Given the description of an element on the screen output the (x, y) to click on. 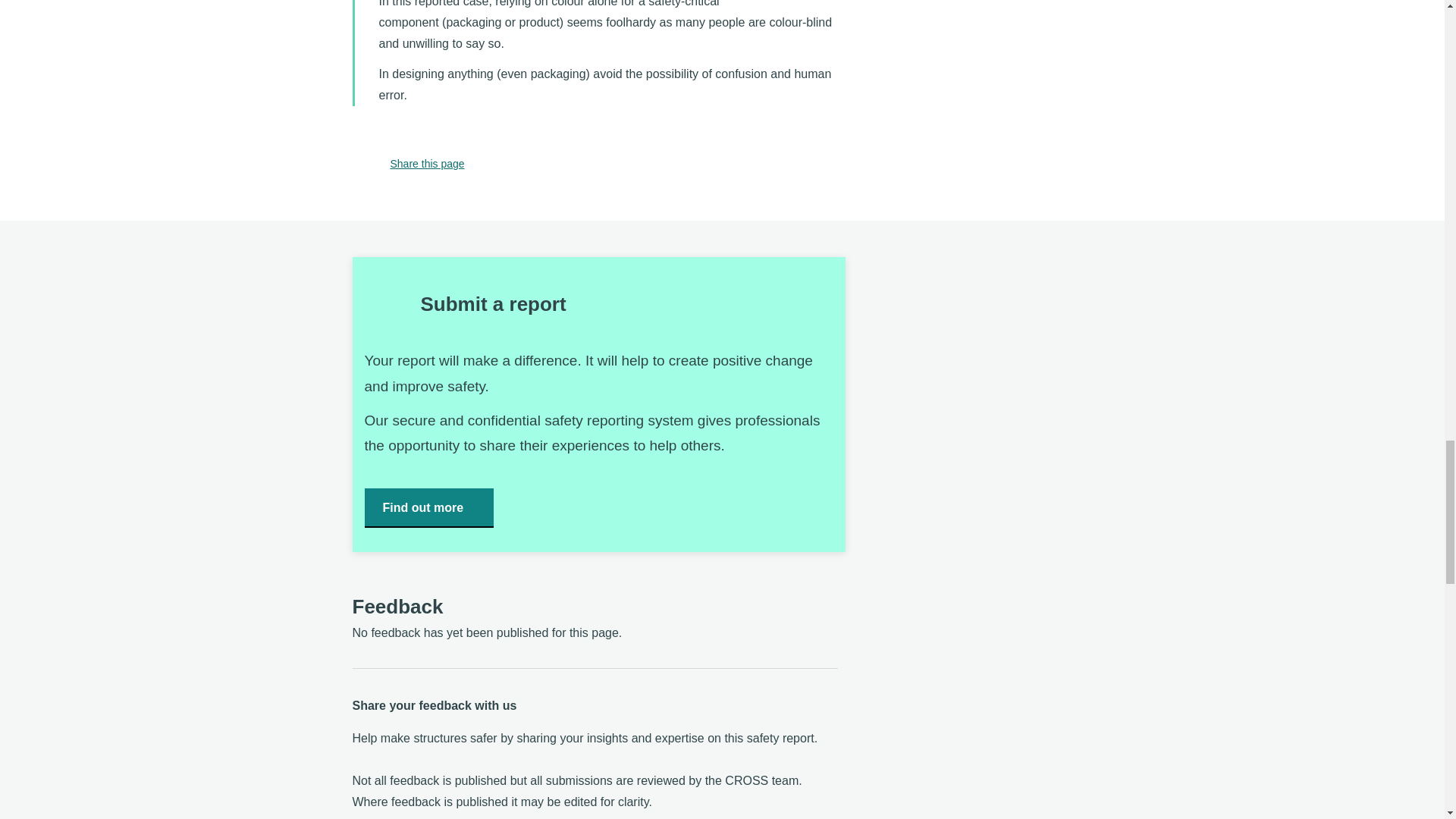
Share this page (408, 163)
